Given the description of an element on the screen output the (x, y) to click on. 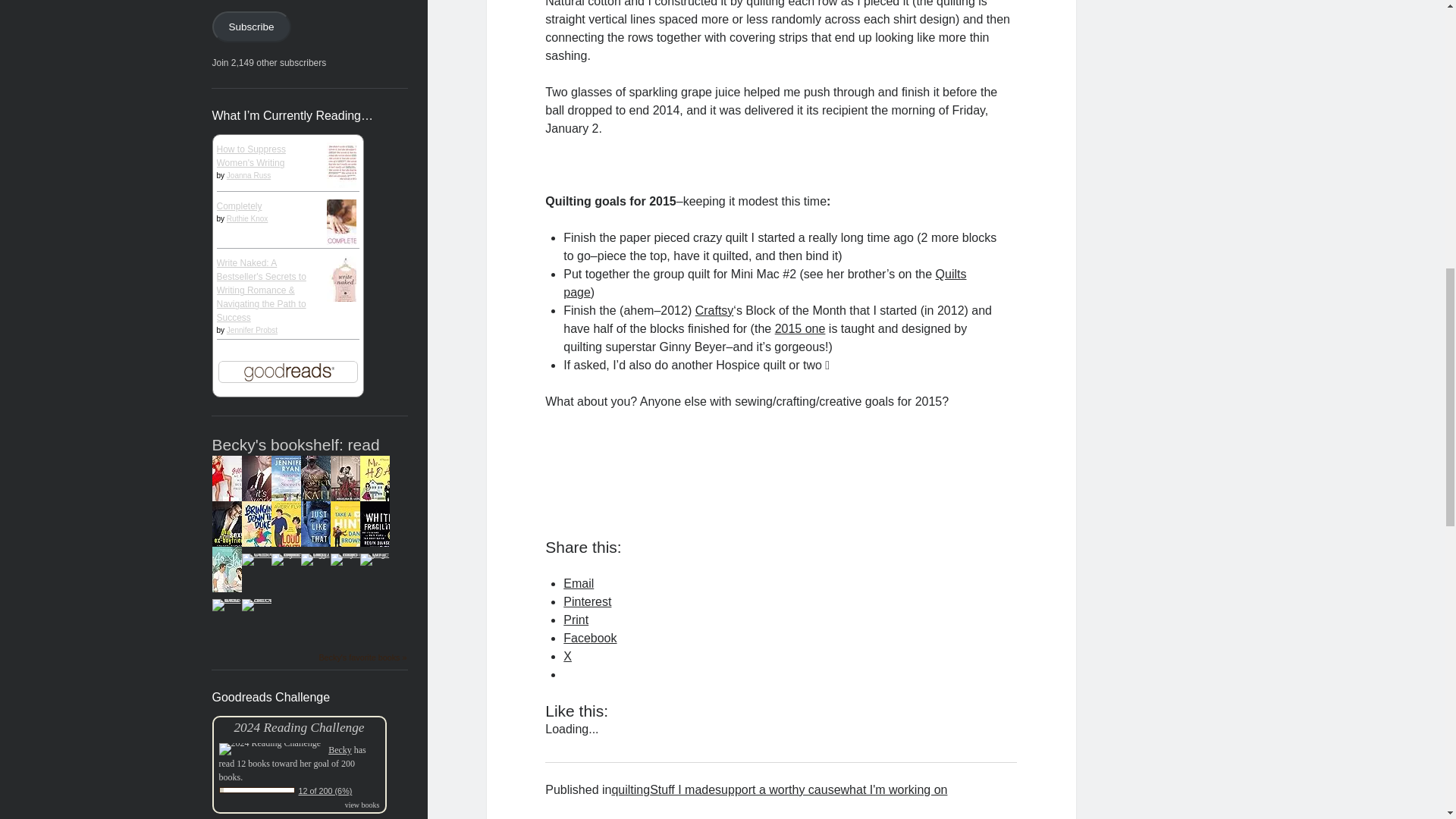
Dear Sexy Ex-Boyfriend (229, 554)
Sisters and Secrets (289, 509)
Joanna Russ (248, 175)
Completely (239, 205)
Mr. H.O.A. (377, 509)
Becky's bookshelf: read (296, 444)
How to Suppress Women's Writing (344, 195)
Subscribe (251, 26)
Ruthie Knox (247, 218)
How to Suppress Women's Writing (250, 156)
